Given the description of an element on the screen output the (x, y) to click on. 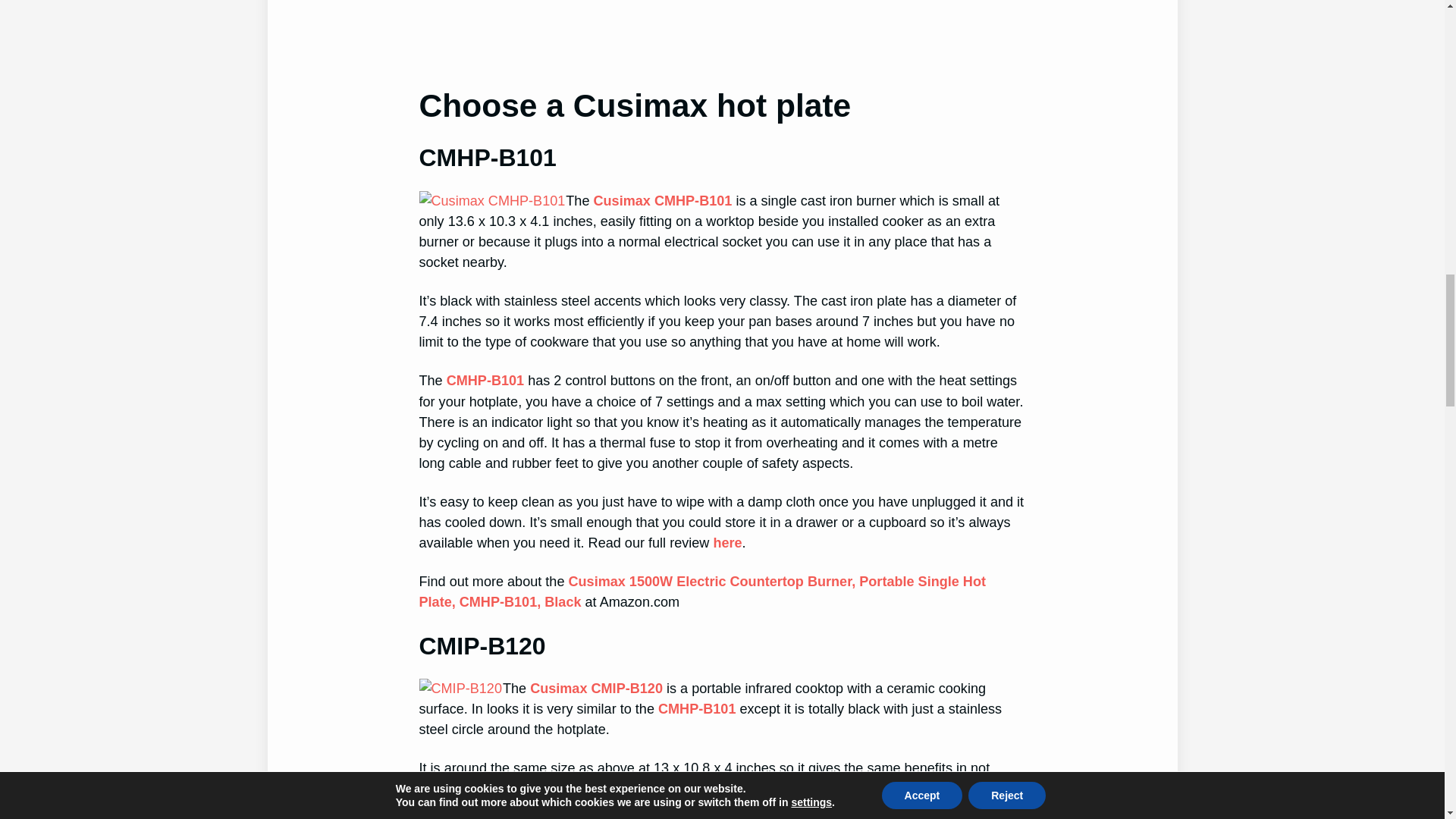
Cusimax CMIP-B120 (595, 688)
CMHP-B101 (485, 380)
Cusimax CMHP-B101 (662, 200)
CMHP-B101 (696, 708)
here (727, 542)
